Given the description of an element on the screen output the (x, y) to click on. 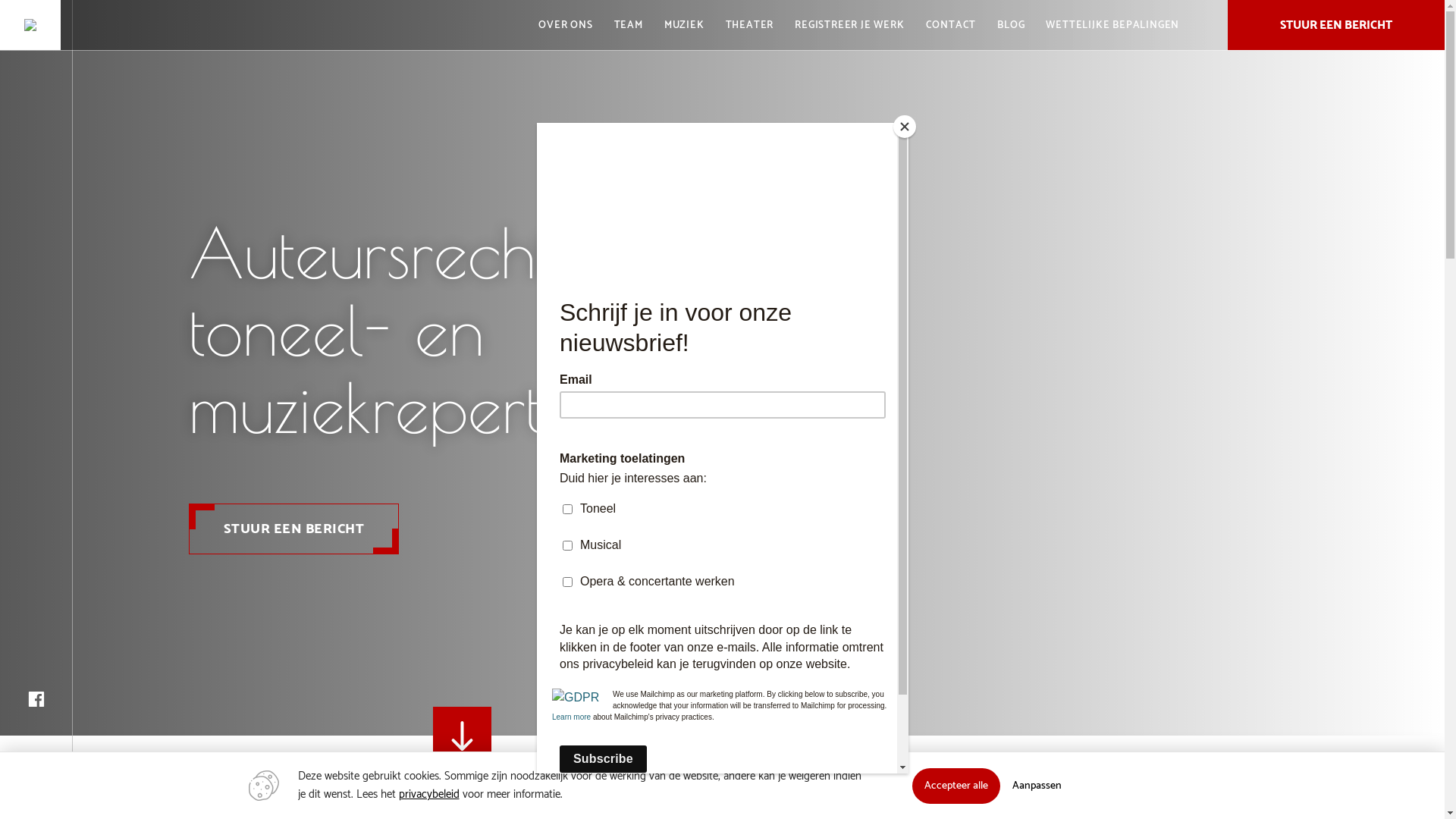
OVER ONS Element type: text (565, 24)
CONTACT Element type: text (950, 24)
privacybeleid Element type: text (428, 793)
STUUR EEN BERICHT Element type: text (1335, 25)
privacy policy Element type: text (749, 417)
BLOG Element type: text (1010, 24)
STUUR EEN BERICHT Element type: text (293, 528)
ALMO Facebook Element type: hover (36, 699)
MUZIEK Element type: text (684, 24)
Aanpassen Element type: text (1036, 785)
THEATER Element type: text (749, 24)
Accepteer alle Element type: text (955, 785)
WETTELIJKE BEPALINGEN Element type: text (1112, 24)
REGISTREER JE WERK Element type: text (849, 24)
TEAM Element type: text (628, 24)
ALMO Element type: hover (30, 25)
